Given the description of an element on the screen output the (x, y) to click on. 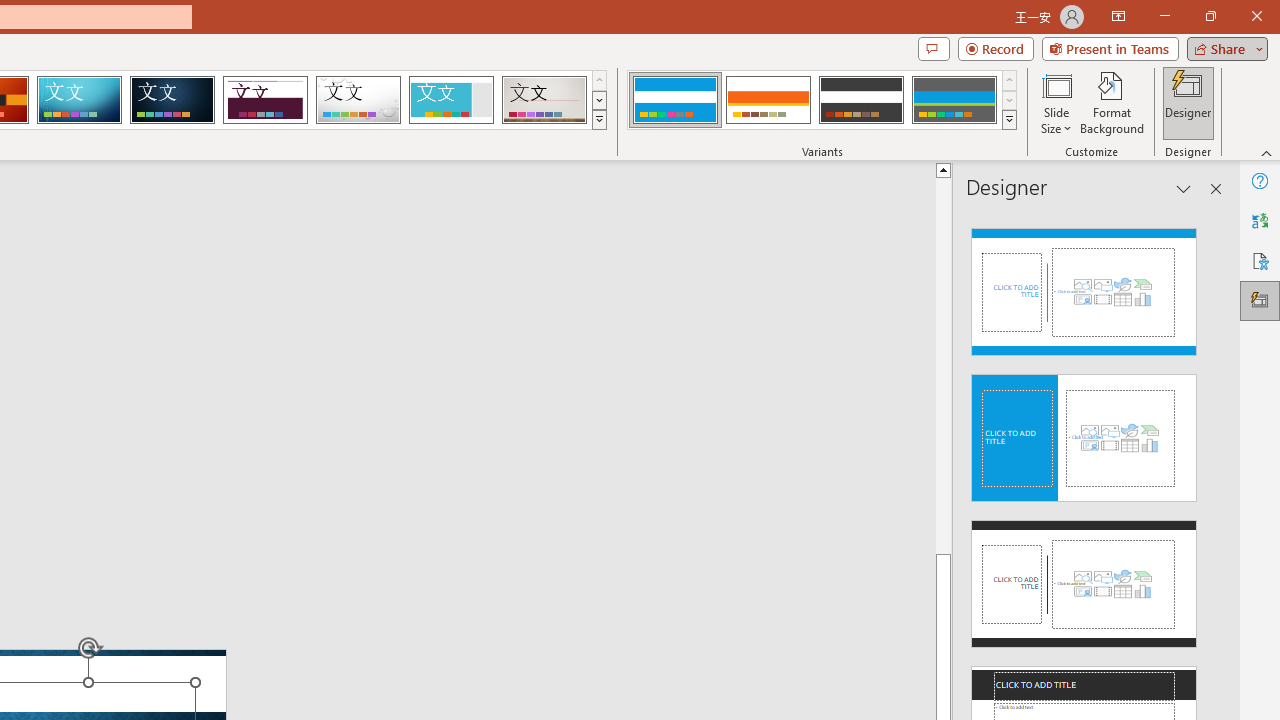
Frame (450, 100)
Damask (171, 100)
Dividend (265, 100)
Gallery (544, 100)
Banded Variant 2 (768, 100)
Banded Variant 4 (953, 100)
Circuit (79, 100)
Recommended Design: Design Idea (1083, 286)
